Given the description of an element on the screen output the (x, y) to click on. 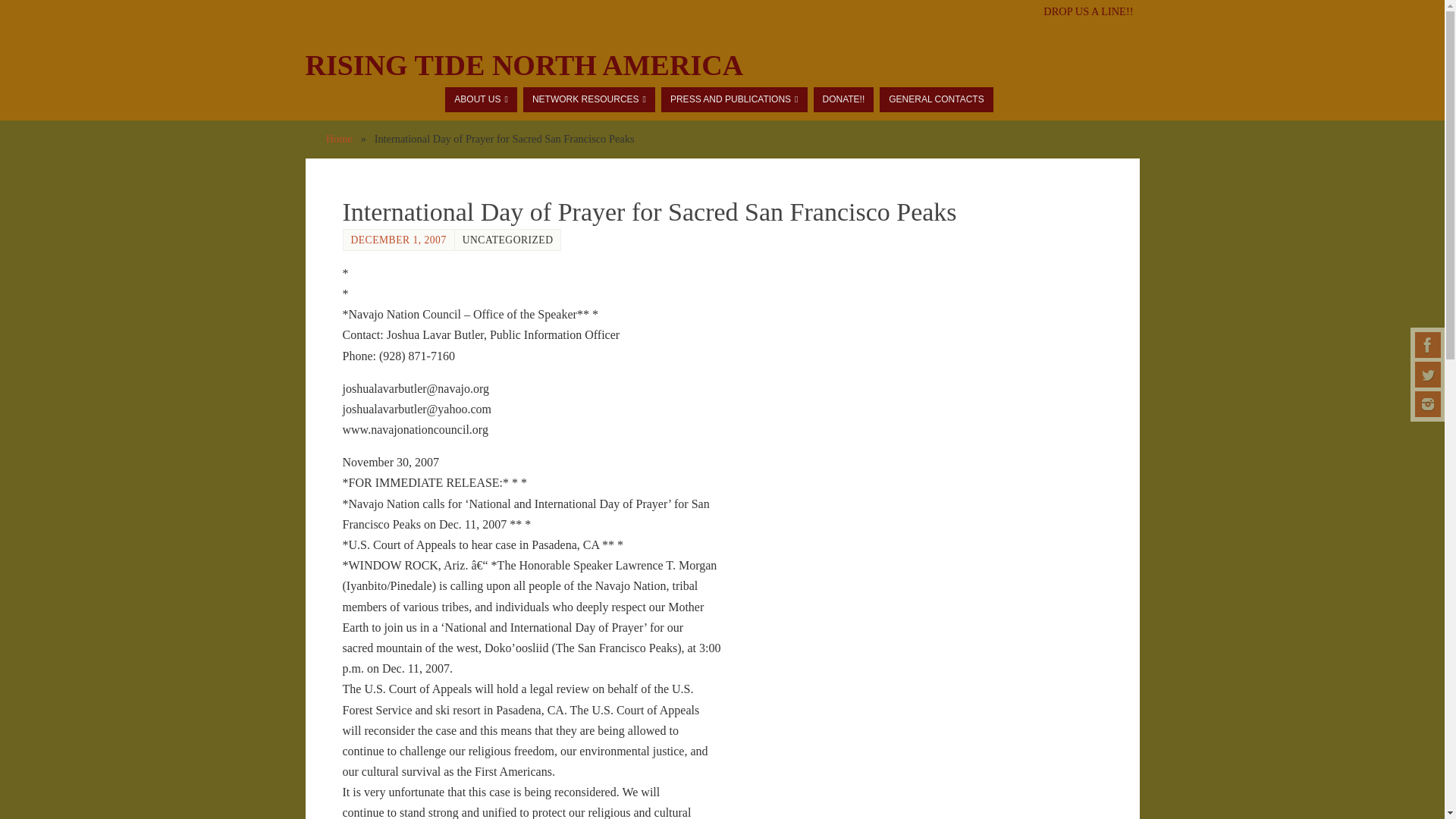
Facebook (1428, 344)
PRESS AND PUBLICATIONS (734, 98)
NETWORK RESOURCES (588, 98)
DROP US A LINE!! (1088, 11)
Instagram (1428, 403)
Home (339, 138)
ABOUT US (480, 98)
Rising Tide North America (523, 64)
GENERAL CONTACTS (935, 98)
RISING TIDE NORTH AMERICA (523, 64)
